Given the description of an element on the screen output the (x, y) to click on. 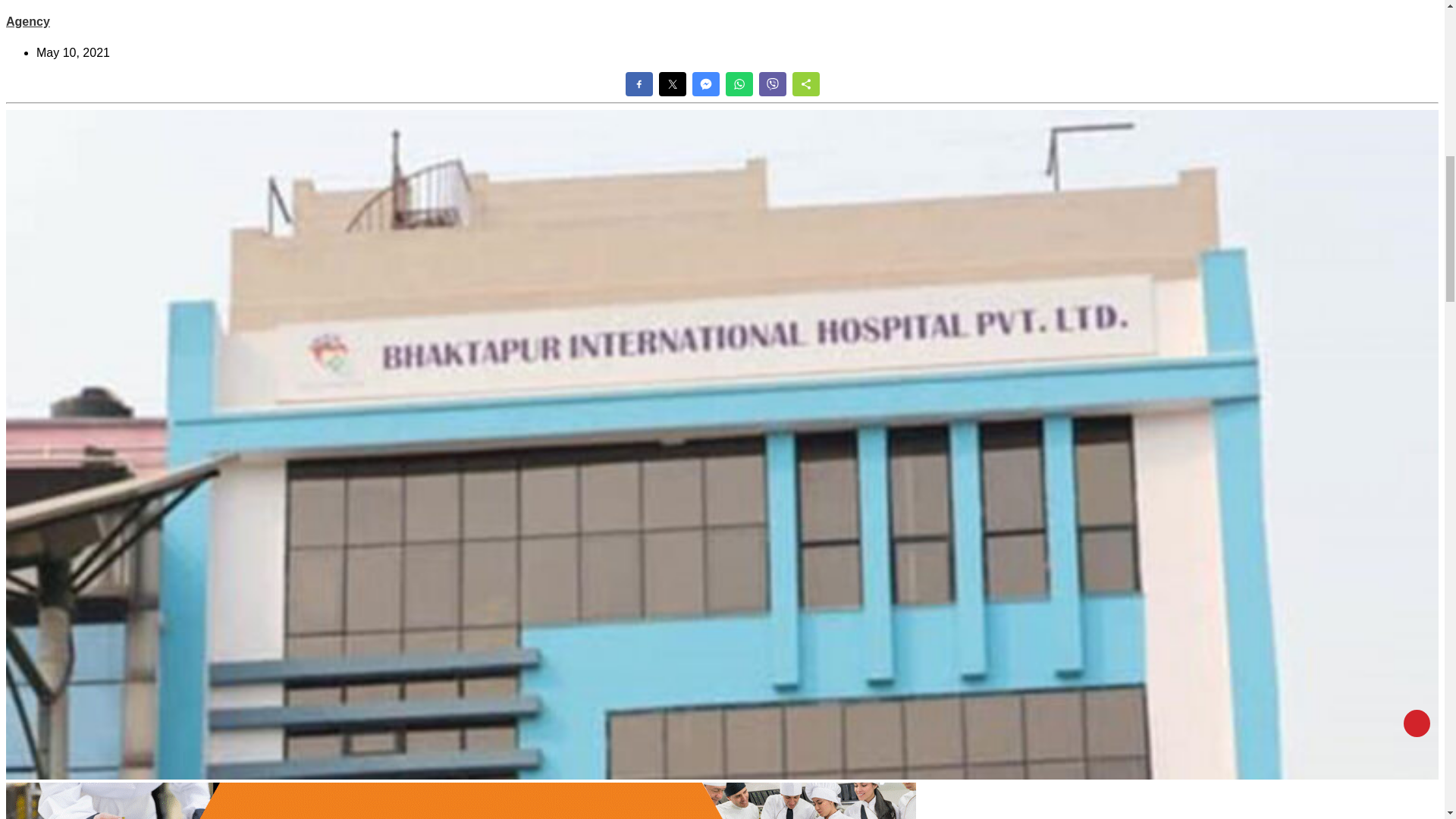
Agency (27, 21)
